Given the description of an element on the screen output the (x, y) to click on. 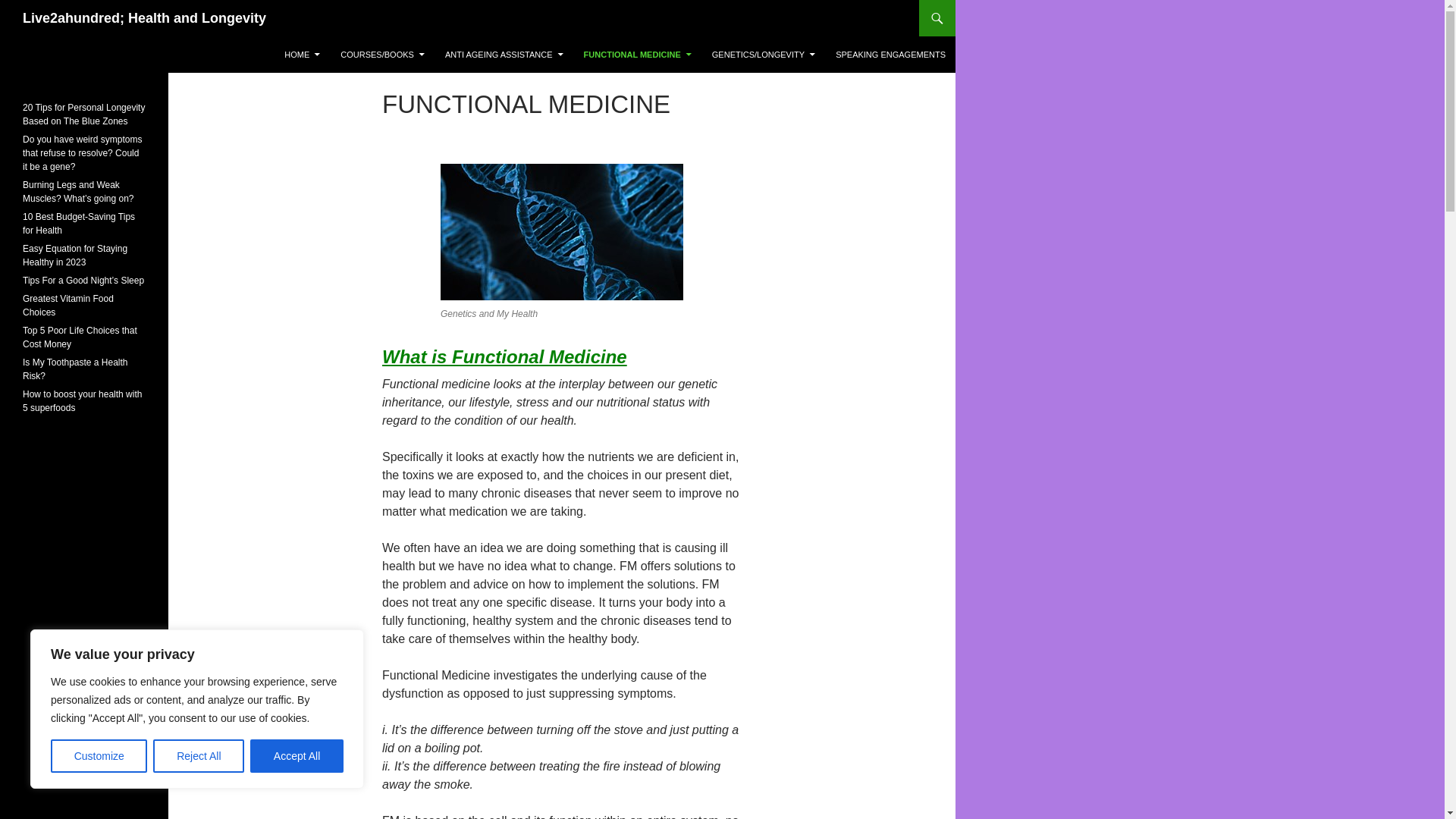
Accept All (296, 756)
Reject All (198, 756)
HOME (302, 54)
Customize (98, 756)
Live2ahundred; Health and Longevity (144, 18)
